Given the description of an element on the screen output the (x, y) to click on. 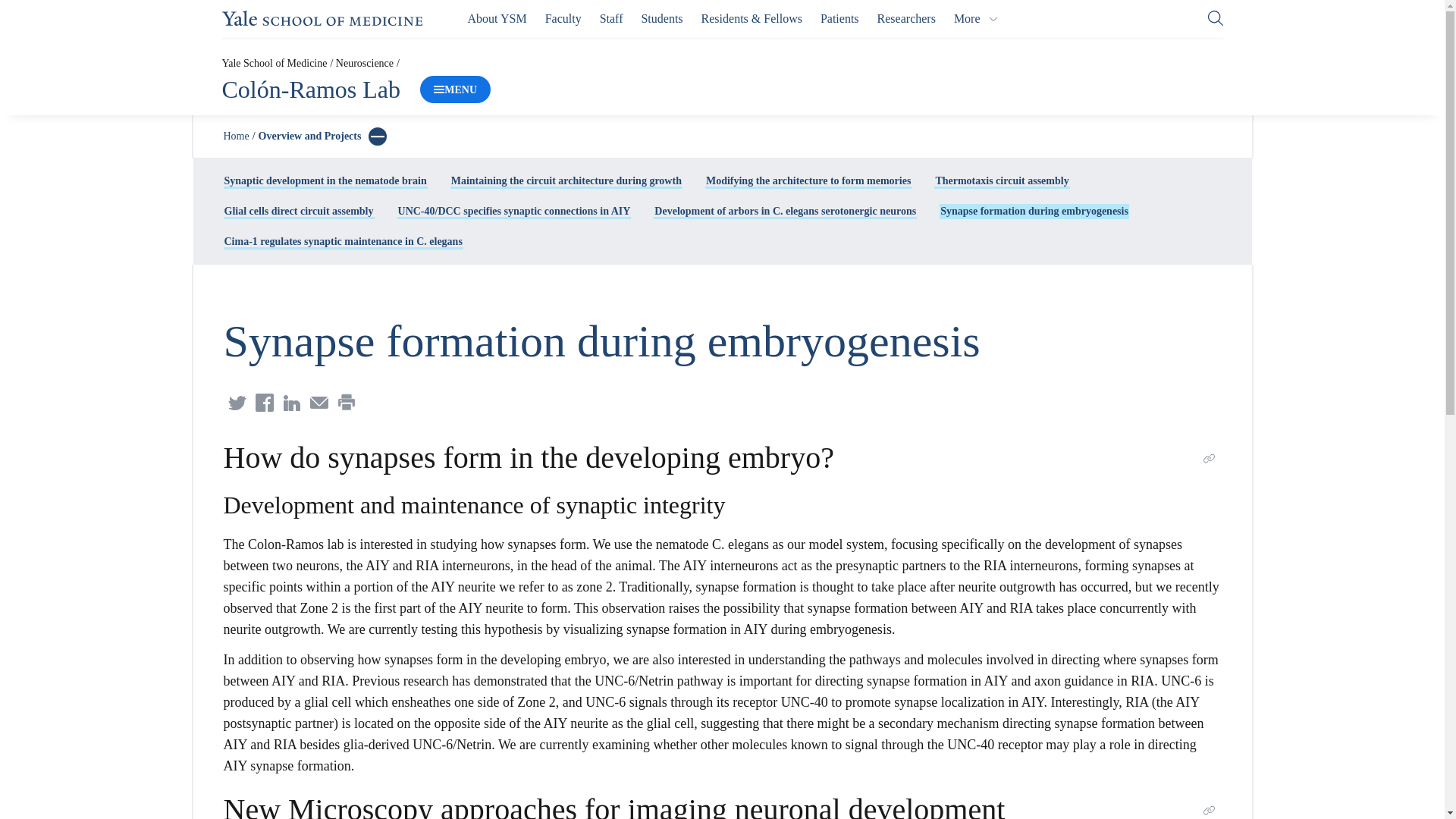
Yale School of Medicine (321, 17)
Patients (840, 18)
More (975, 18)
Students (661, 18)
MENU (455, 89)
Researchers (906, 18)
Staff (611, 18)
Neuroscience (364, 62)
Faculty (562, 18)
About YSM (497, 18)
Yale School of Medicine (321, 18)
Yale School of Medicine (273, 62)
